Given the description of an element on the screen output the (x, y) to click on. 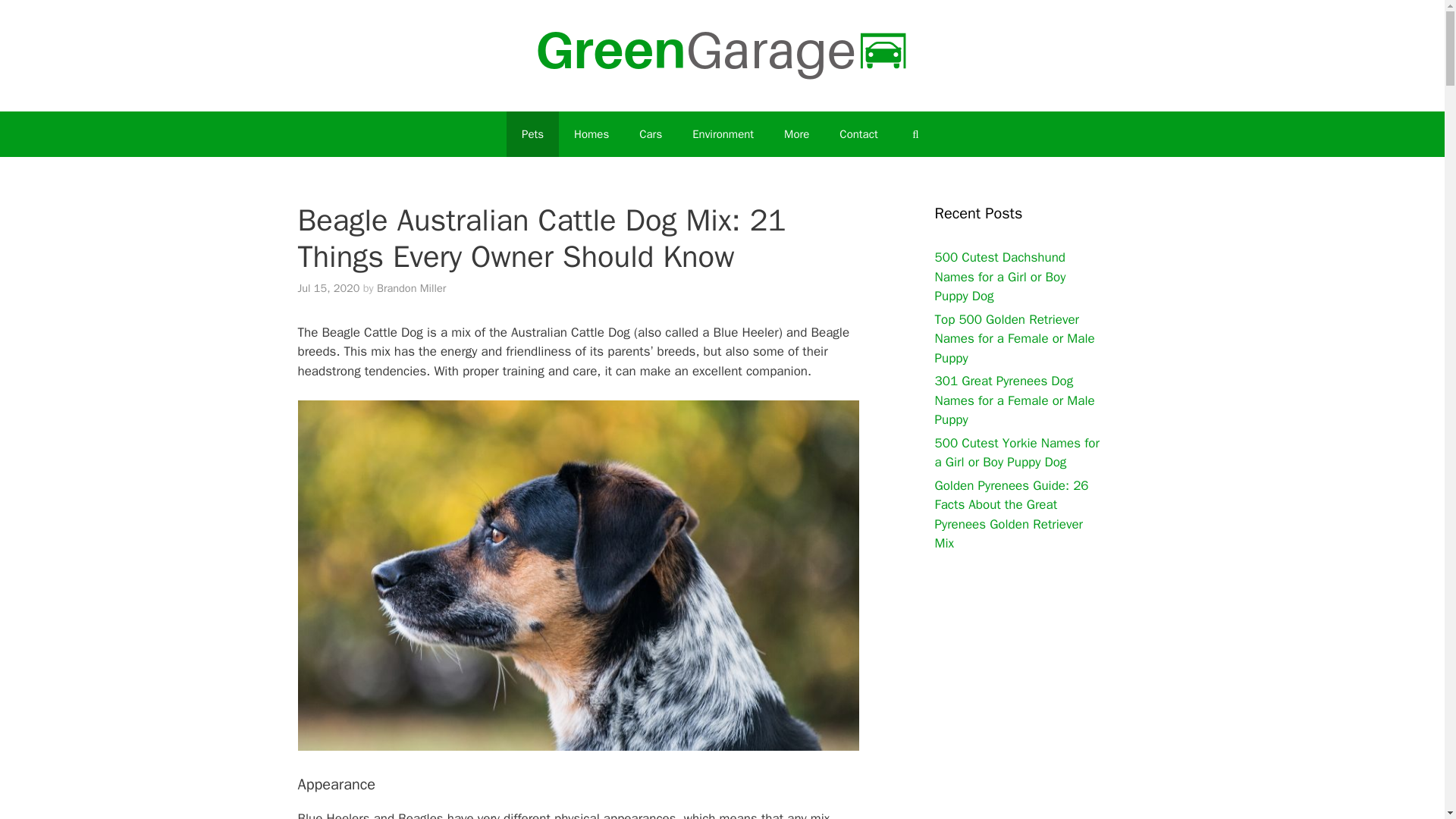
10:31 pm (328, 287)
Search (915, 134)
Environment (722, 134)
Homes (591, 134)
Jul 15, 2020 (328, 287)
500 Cutest Dachshund Names for a Girl or Boy Puppy Dog (999, 276)
500 Cutest Yorkie Names for a Girl or Boy Puppy Dog (1016, 452)
Top 500 Golden Retriever Names for a Female or Male Puppy (1014, 338)
Brandon Miller (411, 287)
Search (915, 134)
Green Garage (721, 54)
Green Garage (721, 55)
Cars (650, 134)
301 Great Pyrenees Dog Names for a Female or Male Puppy (1014, 400)
